Given the description of an element on the screen output the (x, y) to click on. 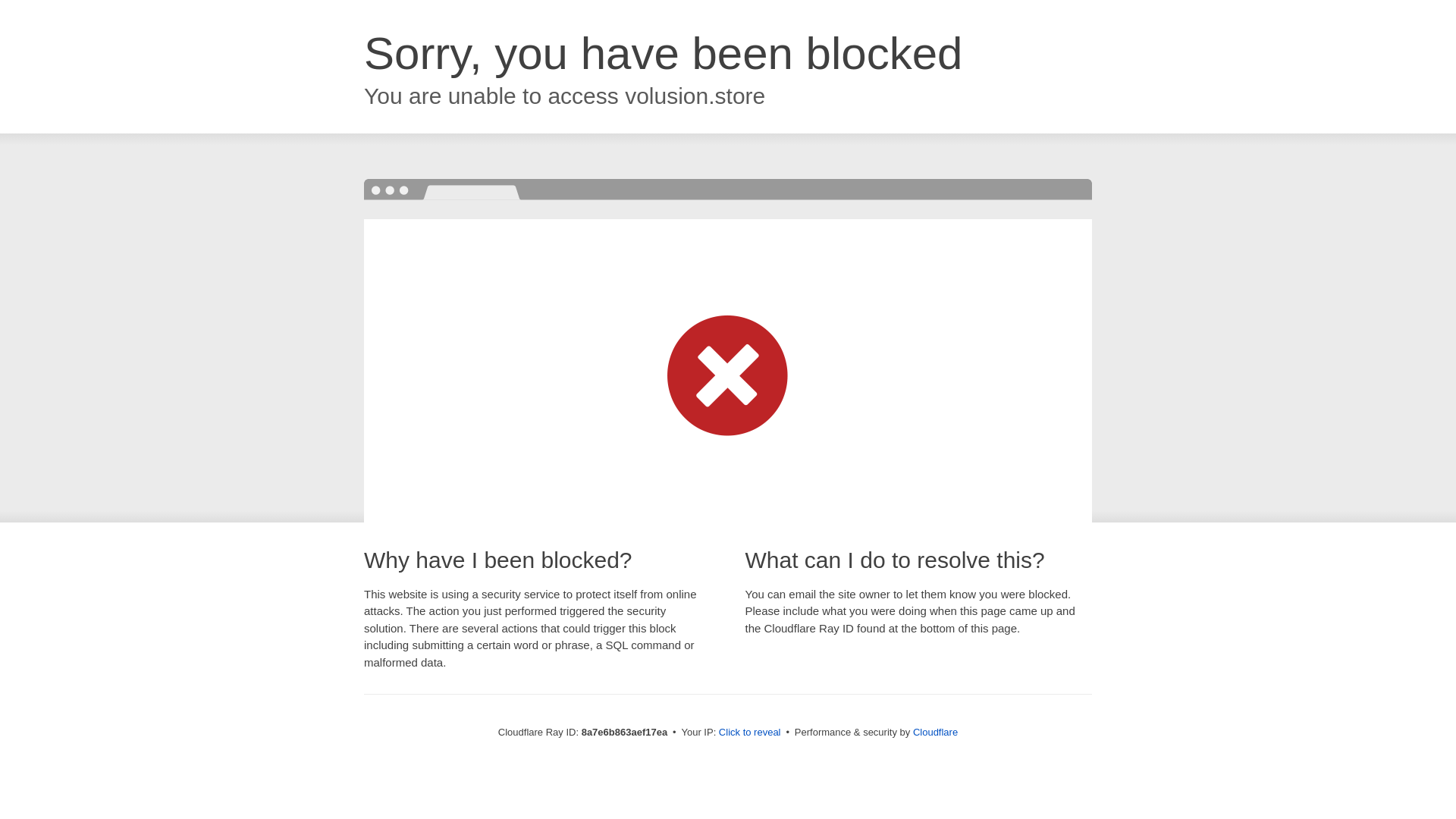
Click to reveal (749, 732)
Cloudflare (935, 731)
